Given the description of an element on the screen output the (x, y) to click on. 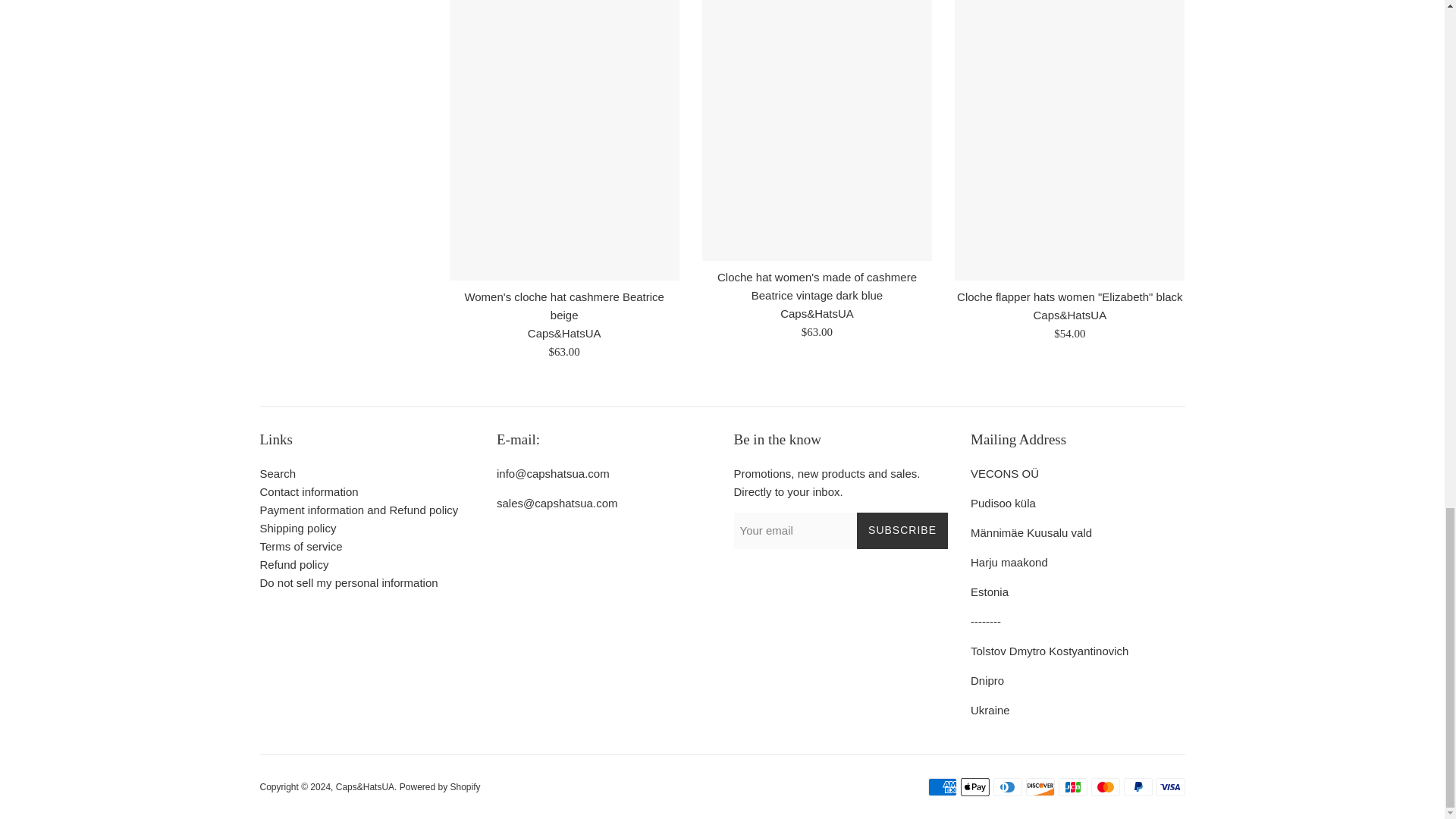
American Express (942, 787)
PayPal (1138, 787)
Discover (1039, 787)
Mastercard (1104, 787)
Apple Pay (973, 787)
Diners Club (1007, 787)
Visa (1170, 787)
JCB (1072, 787)
